Given the description of an element on the screen output the (x, y) to click on. 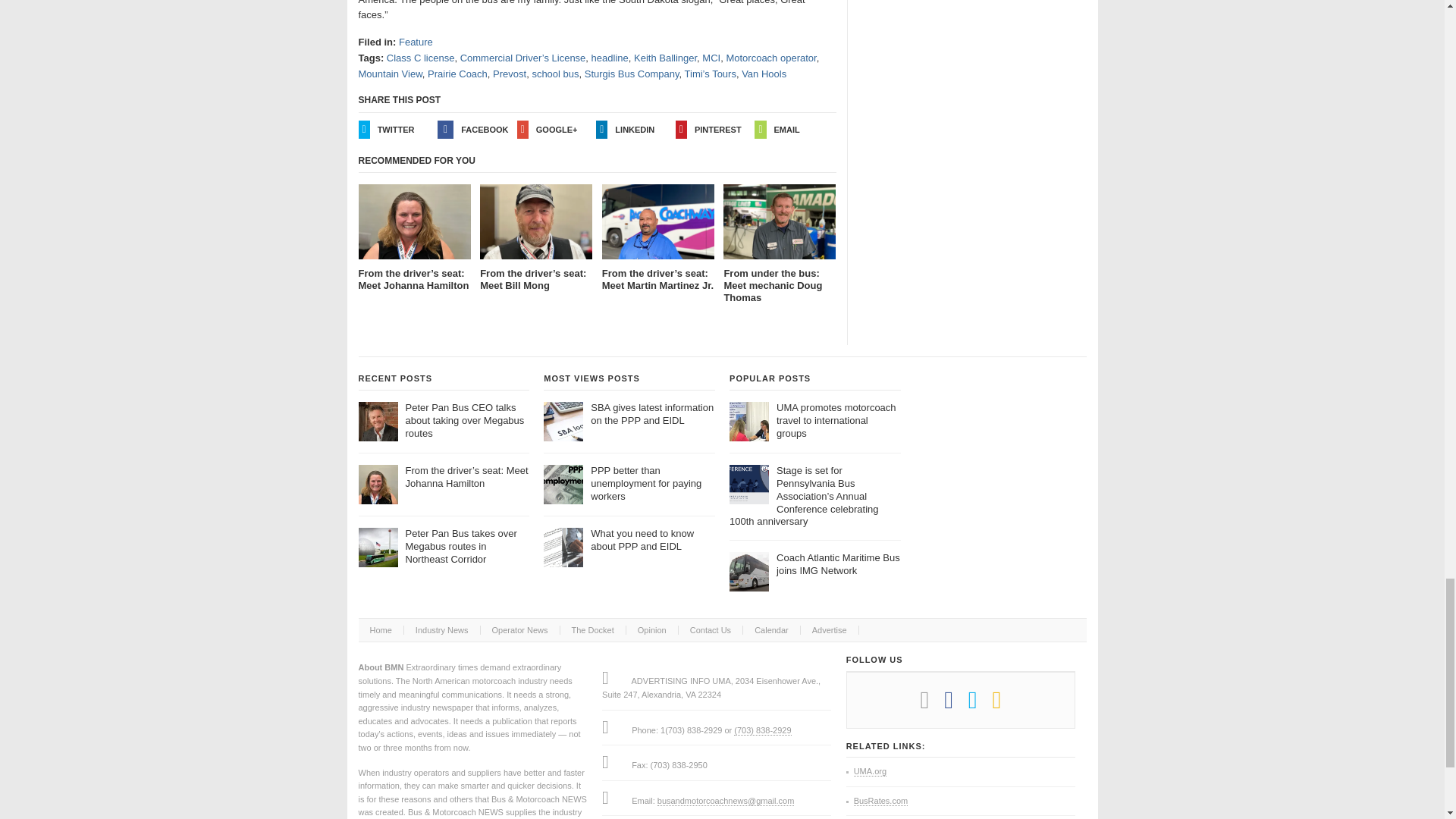
Youtube (931, 705)
RSS (1004, 705)
Facebook (955, 705)
Twitter (980, 705)
